Given the description of an element on the screen output the (x, y) to click on. 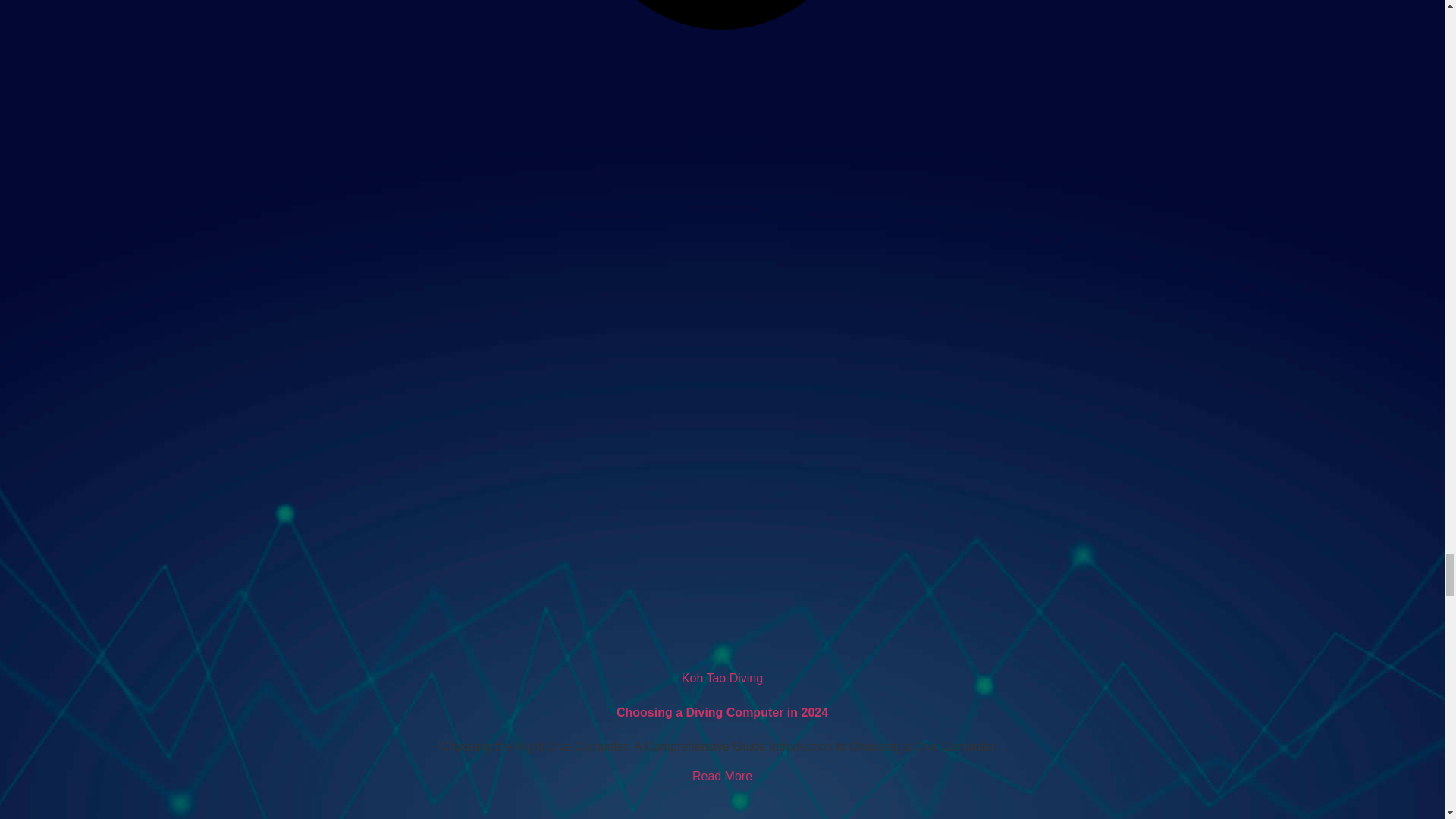
Choosing a Diving Computer in 2024 (722, 775)
